Given the description of an element on the screen output the (x, y) to click on. 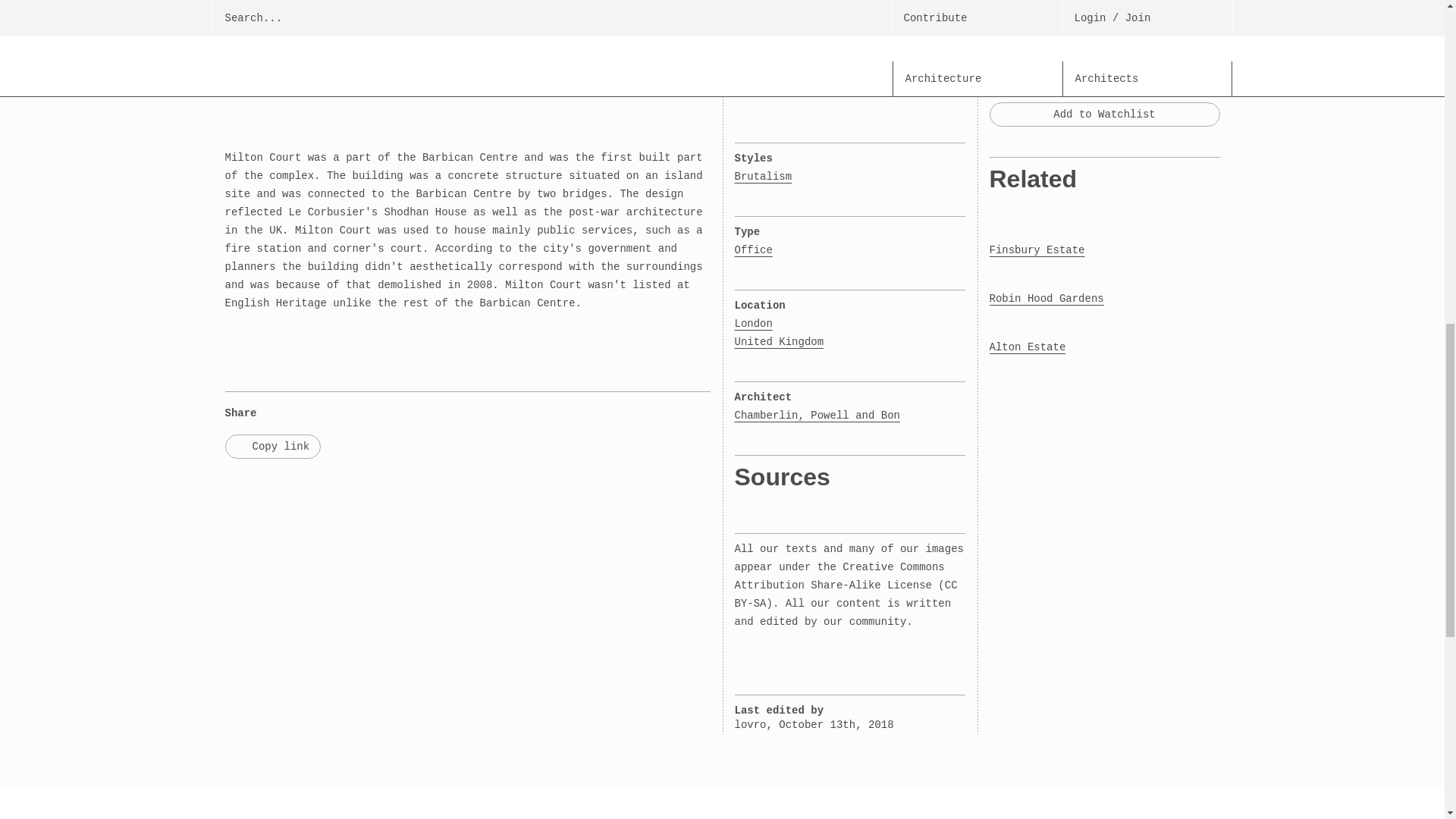
Brutalism (762, 176)
London (756, 323)
Brutalism (762, 176)
Sarah J Duncan (1117, 20)
1 of 1 (258, 20)
United Kingdom (778, 341)
Office (752, 249)
